Given the description of an element on the screen output the (x, y) to click on. 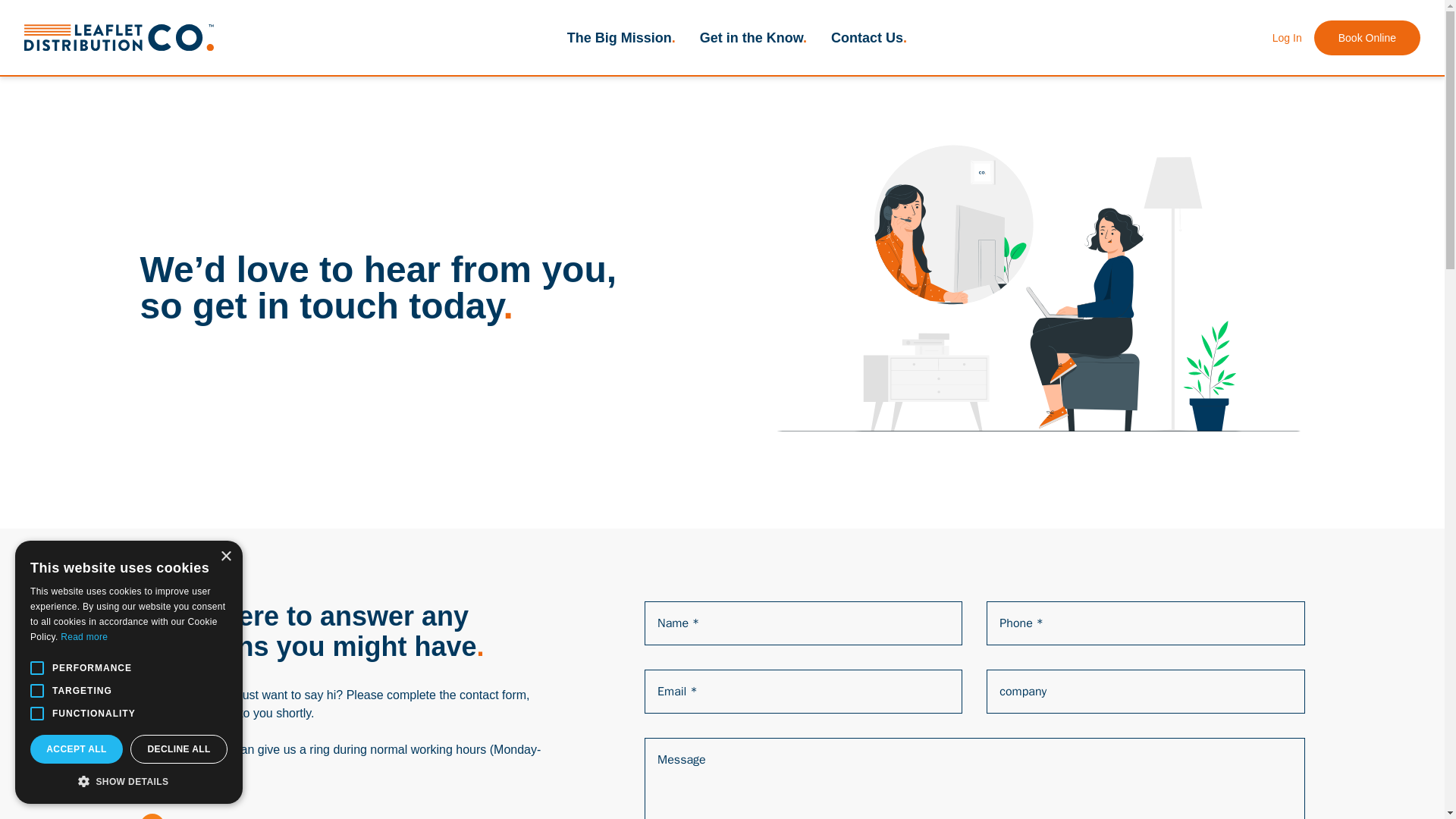
0800 080 3770 (247, 816)
Get in the Know (753, 37)
Book Online (1367, 37)
The Big Mission (621, 37)
Log In (1286, 37)
Leaflet Distribution Company (119, 37)
Log In (1286, 37)
The Big Mission (621, 37)
Contact Us (869, 37)
Book Online (1367, 37)
Contact Us (869, 37)
Get in the Know (753, 37)
